Given the description of an element on the screen output the (x, y) to click on. 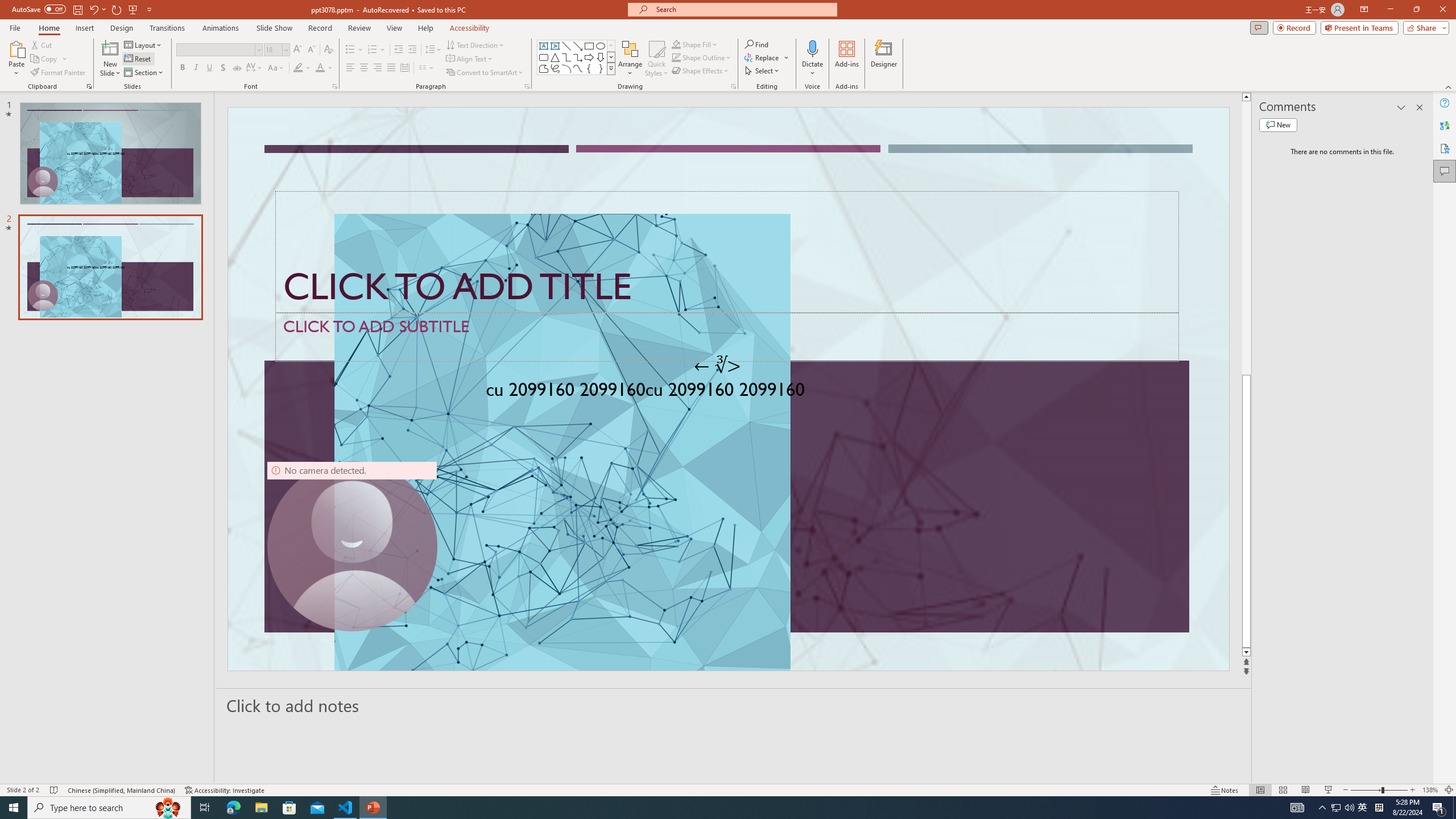
Shape Effects (700, 69)
